Given the description of an element on the screen output the (x, y) to click on. 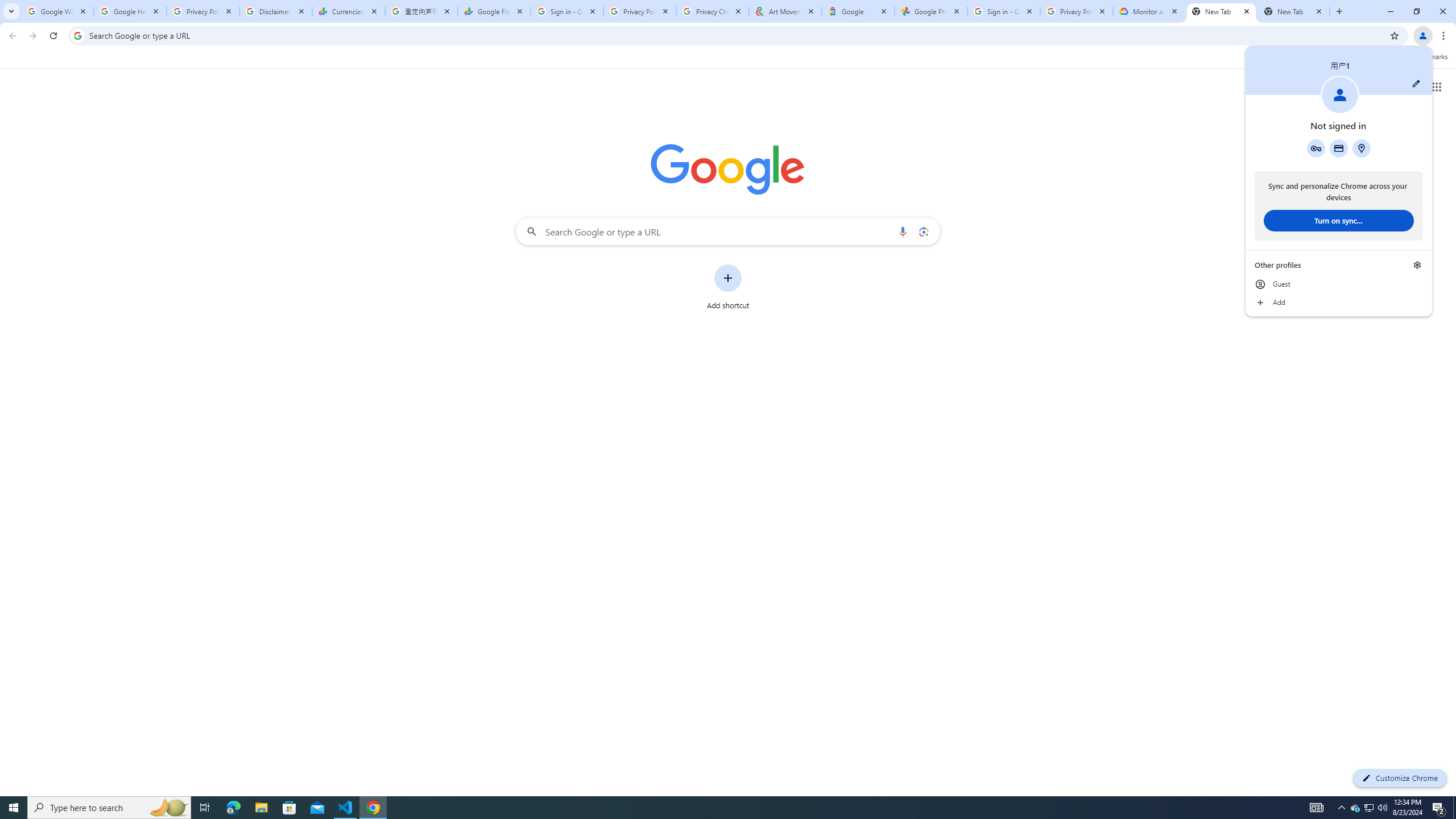
AutomationID: 4105 (1316, 807)
Payment methods (1338, 148)
Search highlights icon opens search home window (167, 807)
Microsoft Store (1368, 807)
Search Google or type a URL (289, 807)
Search by image (727, 230)
User Promoted Notification Area (922, 230)
Search icon (1368, 807)
Privacy Checkup (77, 35)
Start (712, 11)
